Given the description of an element on the screen output the (x, y) to click on. 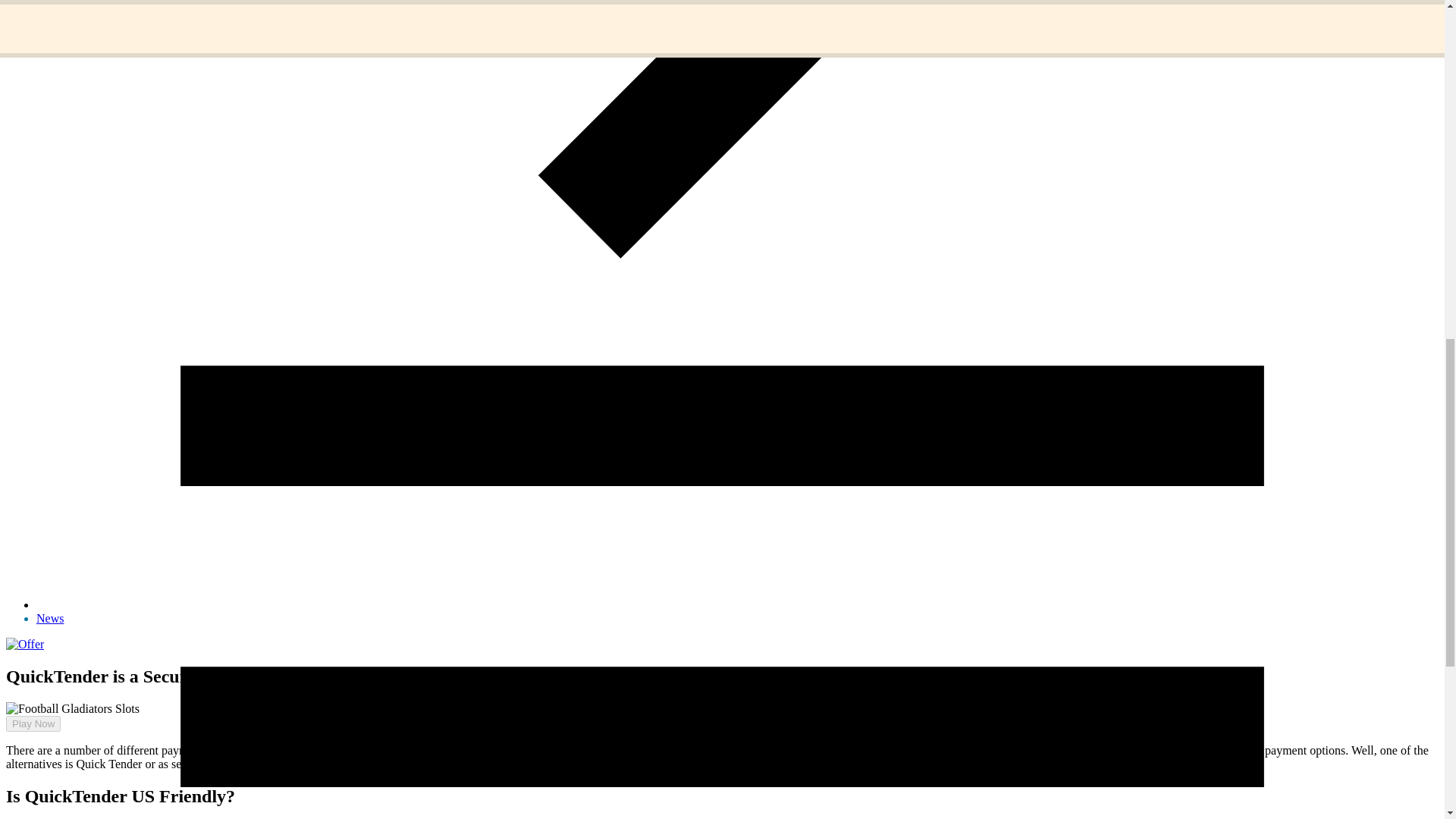
News (50, 617)
UseMyWallet (410, 763)
NETeller (497, 749)
Play Now (33, 723)
Play Now (27, 736)
